Given the description of an element on the screen output the (x, y) to click on. 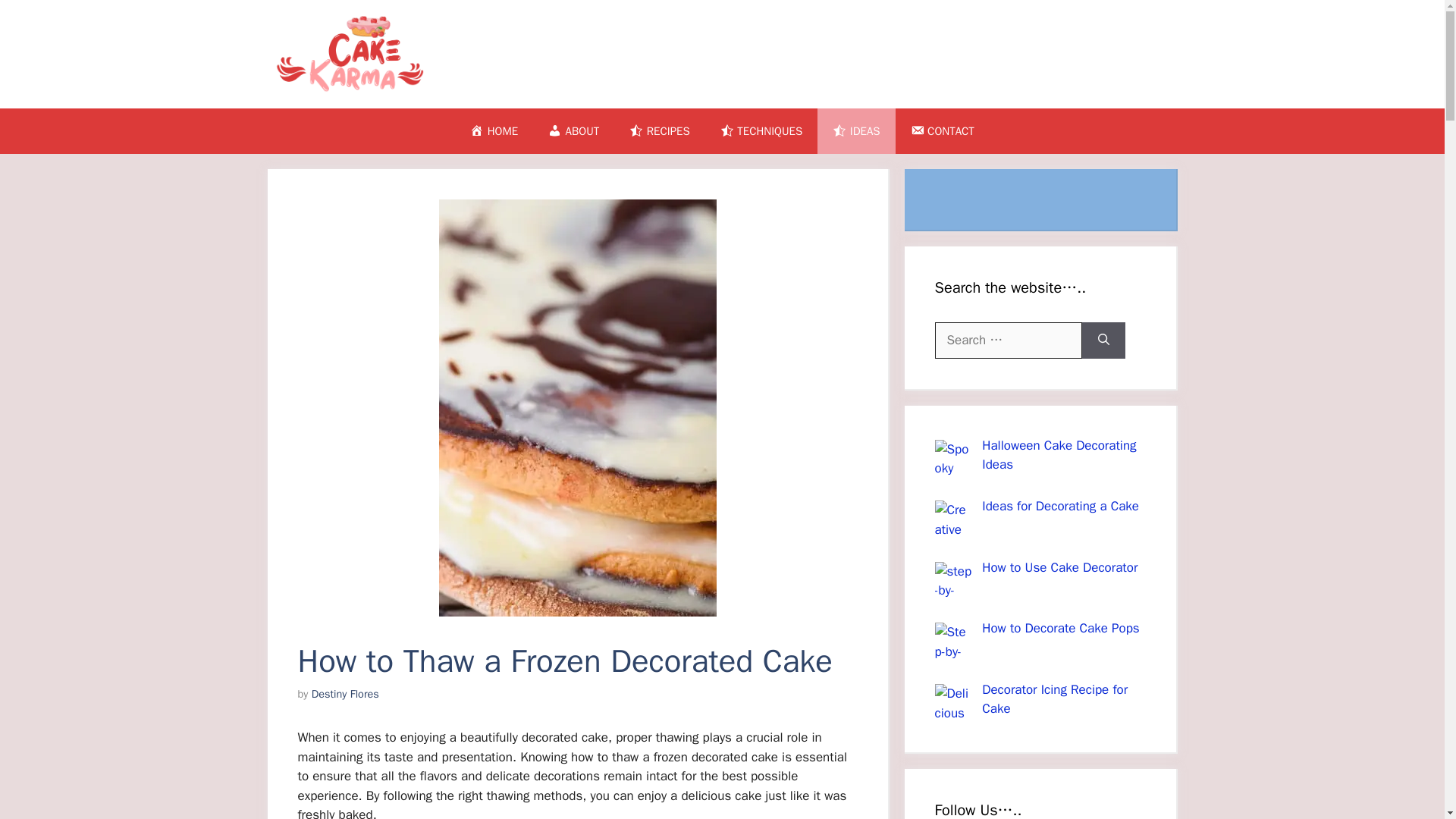
IDEAS (855, 130)
CONTACT (942, 130)
RECIPES (659, 130)
TECHNIQUES (761, 130)
View all posts by Destiny Flores (344, 694)
HOME (493, 130)
ABOUT (573, 130)
Destiny Flores (344, 694)
